Given the description of an element on the screen output the (x, y) to click on. 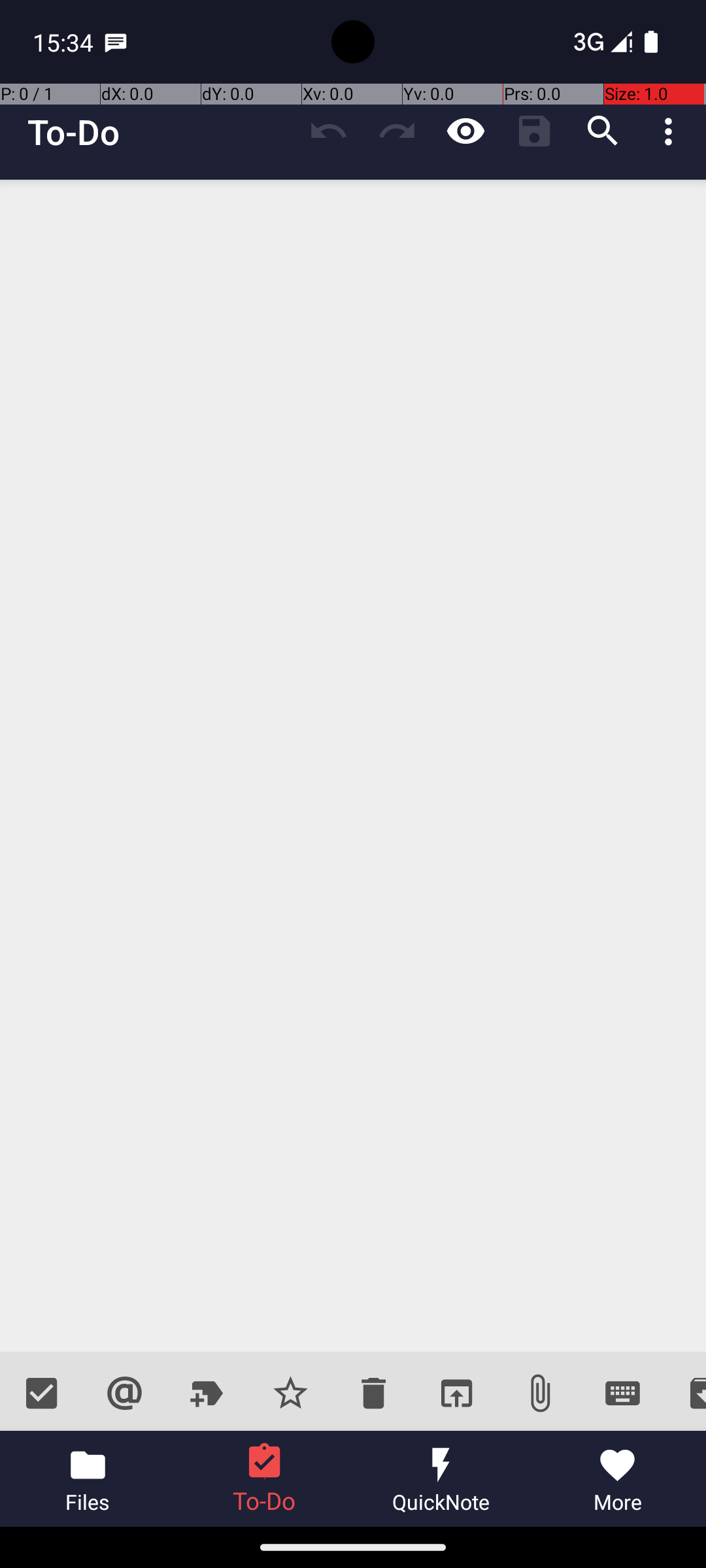
Toggle done Element type: android.widget.ImageView (41, 1392)
Add context Element type: android.widget.ImageView (124, 1392)
Add project Element type: android.widget.ImageView (207, 1392)
Priority Element type: android.widget.ImageView (290, 1392)
Archive completed tasks Element type: android.widget.ImageView (685, 1392)
